Given the description of an element on the screen output the (x, y) to click on. 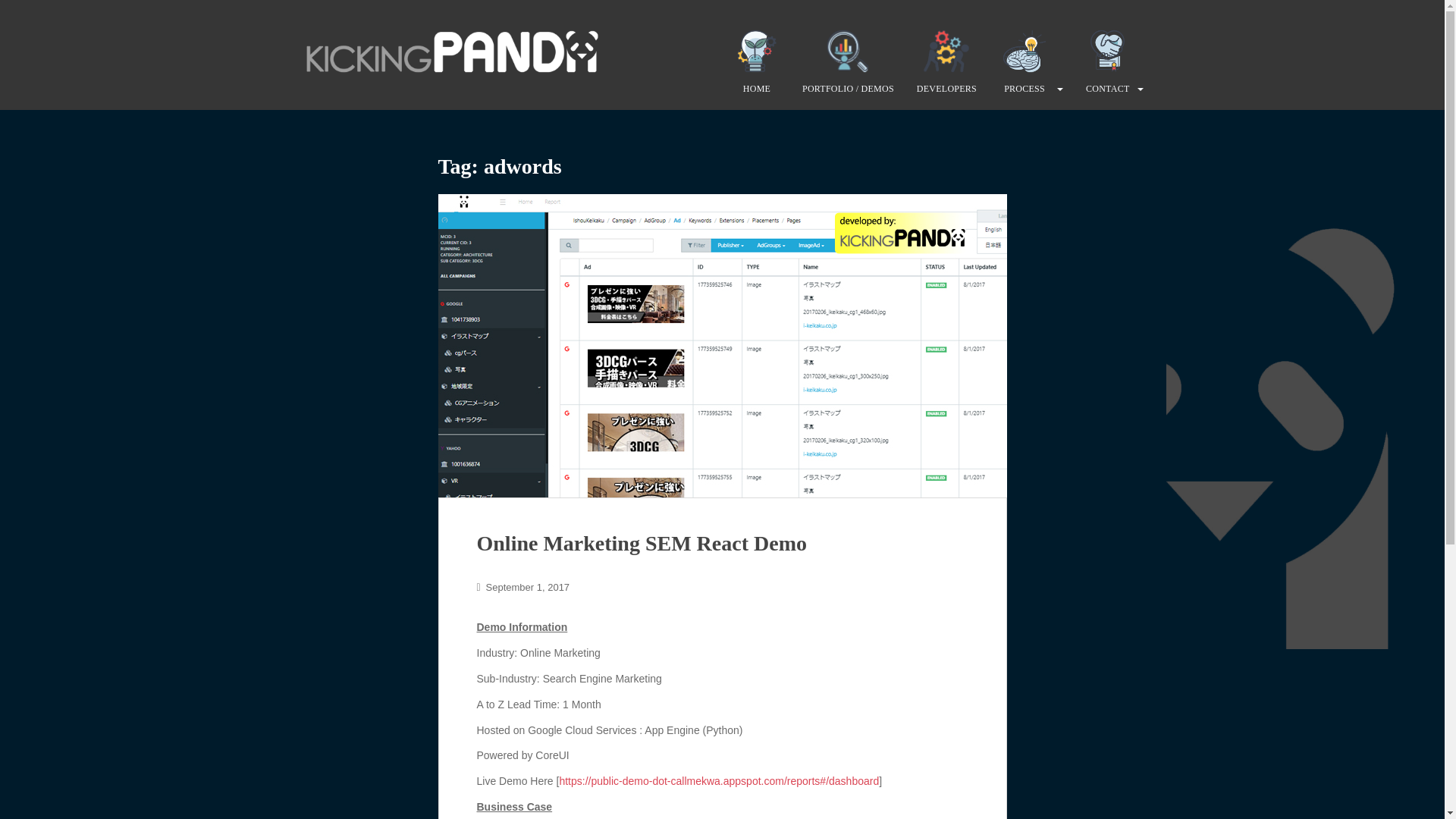
Online Marketing SEM React Demo (641, 543)
September 1, 2017 (528, 586)
